Given the description of an element on the screen output the (x, y) to click on. 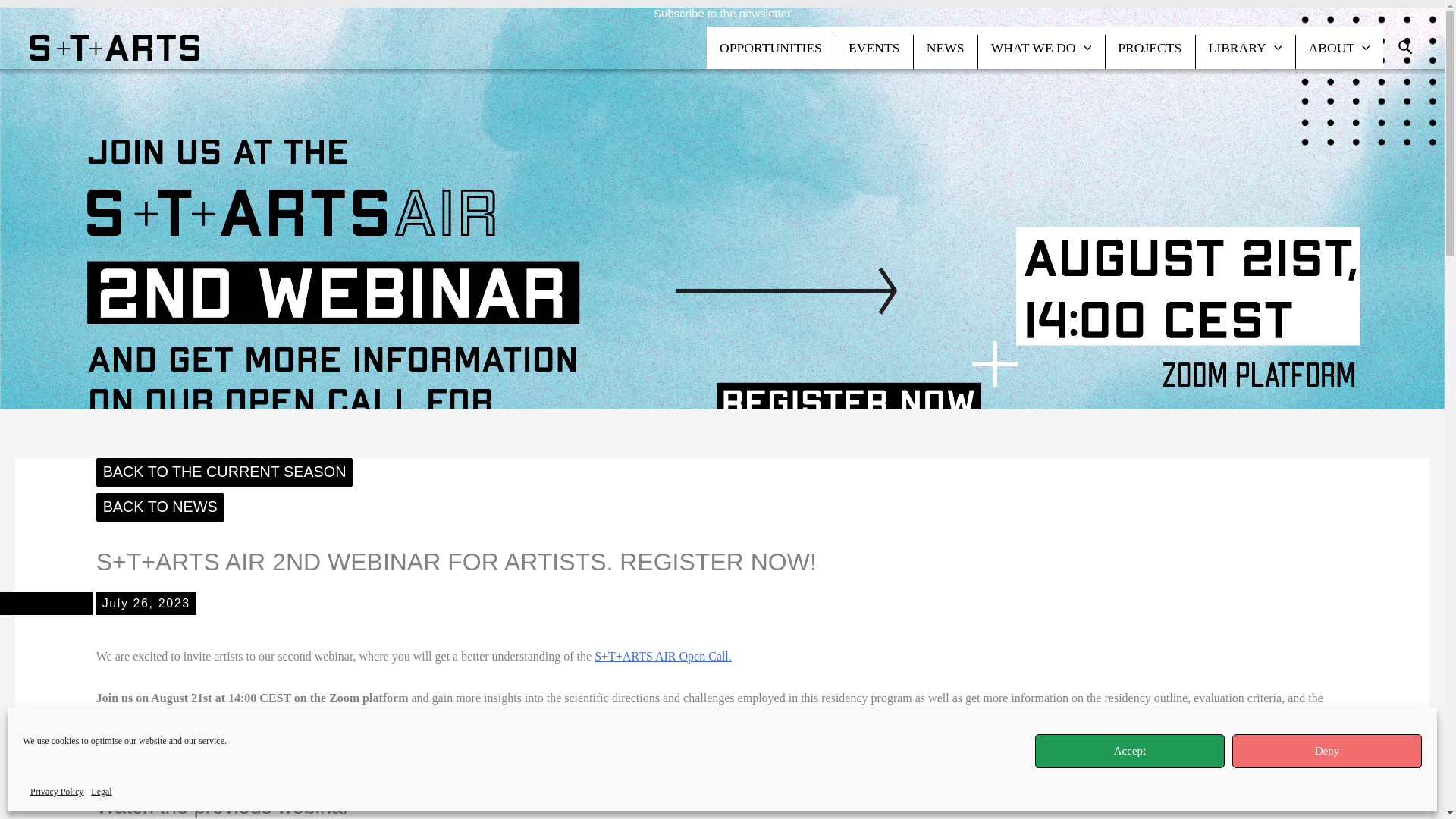
Privacy Policy (56, 791)
Legal (101, 791)
WHAT WE DO (1039, 47)
Accept (1129, 750)
Deny (1326, 750)
OPPORTUNITIES (770, 47)
EVENTS (874, 47)
NEWS (944, 47)
Subscribe to the newsletter (721, 11)
